Given the description of an element on the screen output the (x, y) to click on. 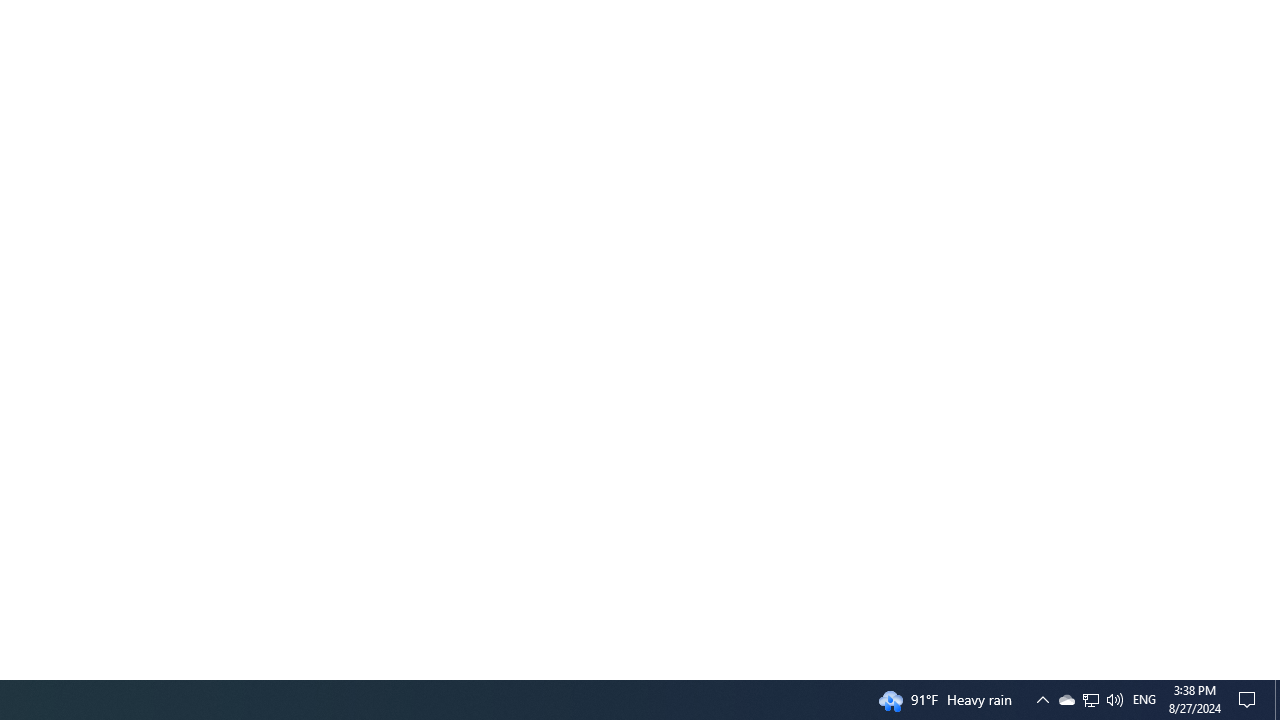
Tray Input Indicator - English (United States) (1144, 699)
